Given the description of an element on the screen output the (x, y) to click on. 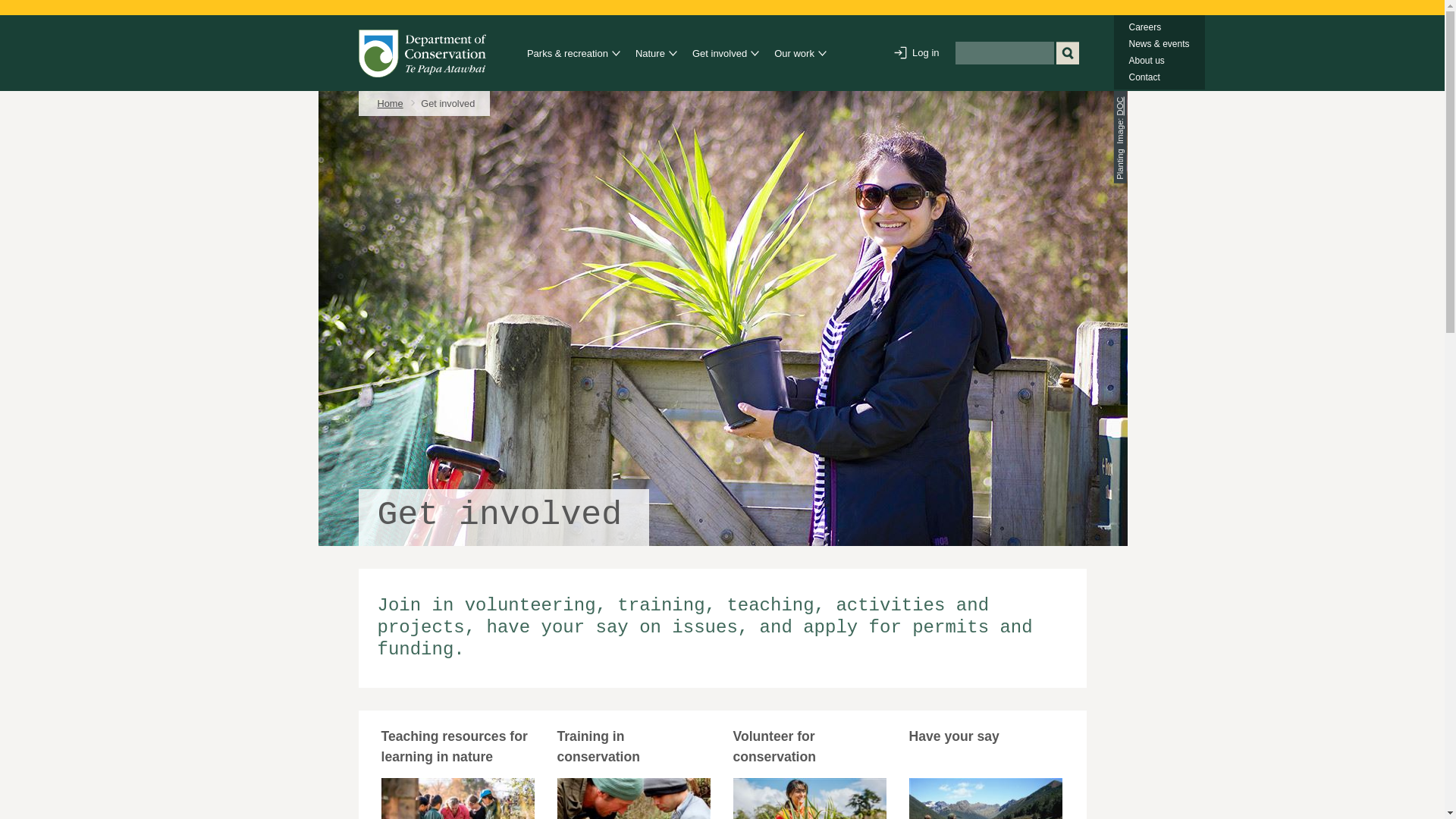
Get involved (722, 53)
Search (1066, 52)
Nature (651, 53)
Search (1066, 52)
Training in conservation (633, 798)
Have your say (984, 798)
Search (1066, 52)
Teaching resources for learning in nature (457, 798)
Volunteer for conservation (808, 798)
